Given the description of an element on the screen output the (x, y) to click on. 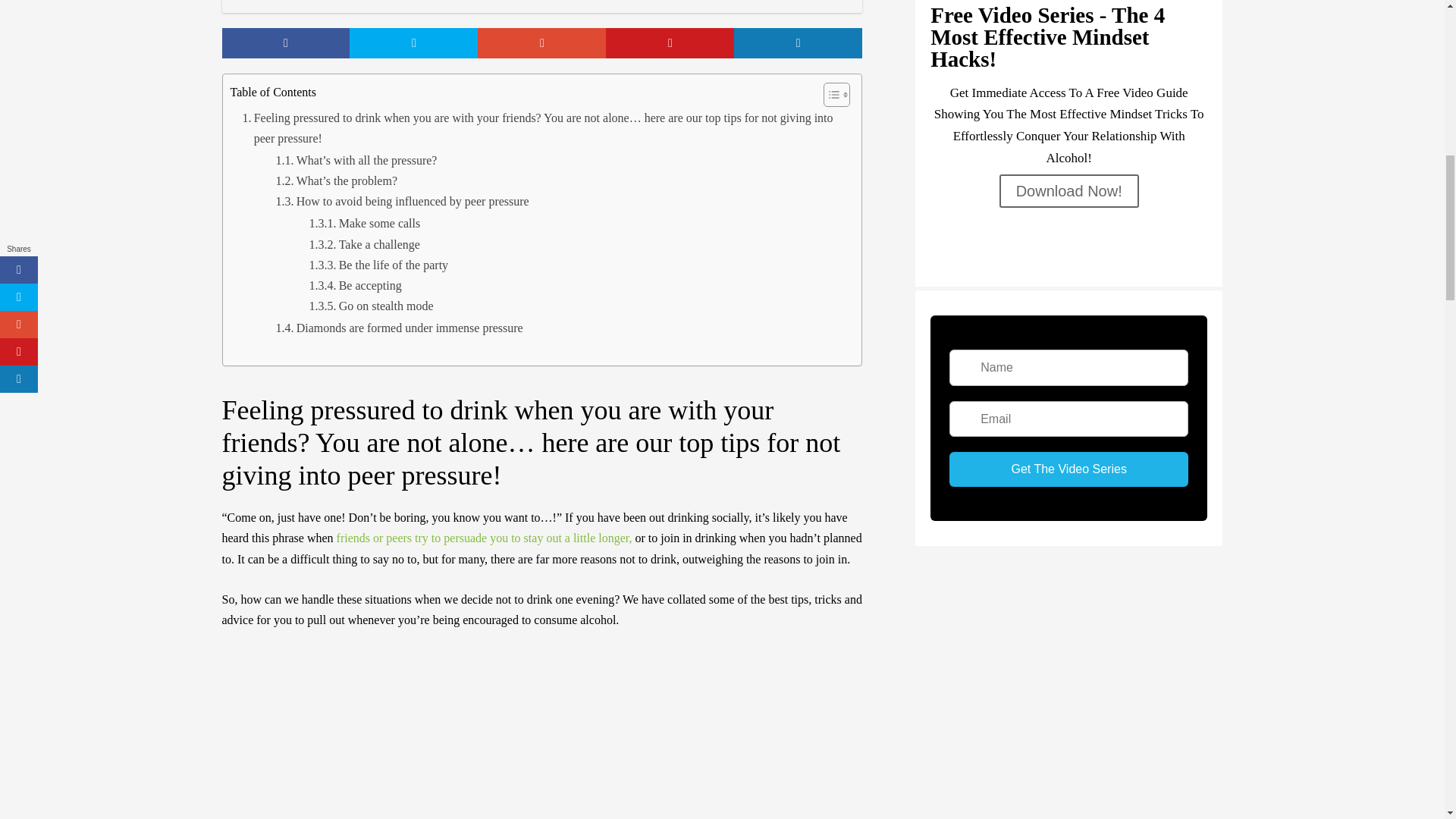
How to avoid being influenced by peer pressure (402, 200)
Go on stealth mode (370, 305)
Be the life of the party (378, 264)
Diamonds are formed under immense pressure (399, 327)
Be the life of the party (378, 264)
Make some calls (364, 222)
How to avoid being influenced by peer pressure (402, 200)
Make some calls (364, 222)
Go on stealth mode (370, 305)
